Given the description of an element on the screen output the (x, y) to click on. 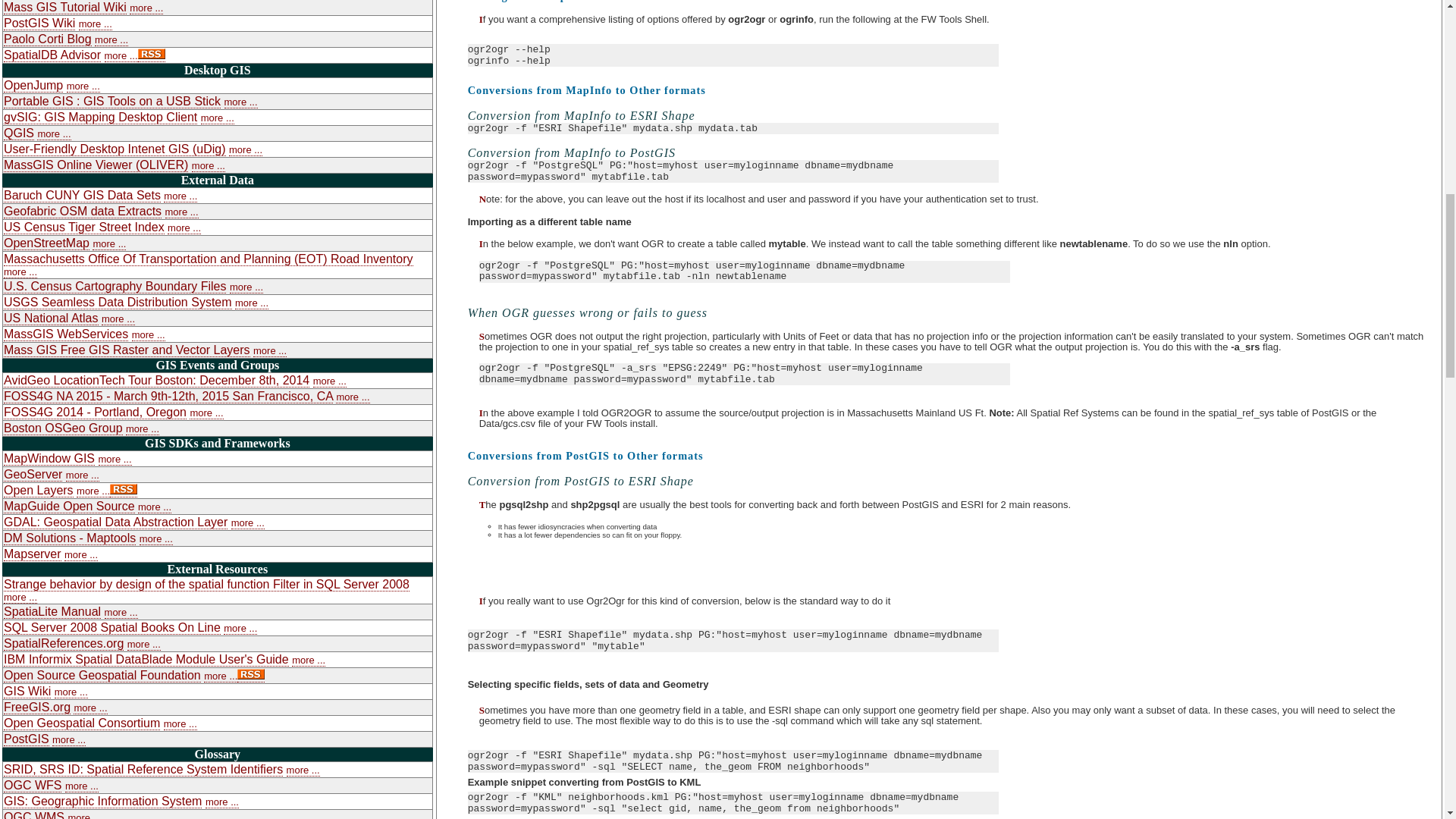
more ... (146, 8)
PostGIS Wiki (39, 23)
Mass GIS Tutorial Wiki (65, 7)
more ... (95, 24)
